Given the description of an element on the screen output the (x, y) to click on. 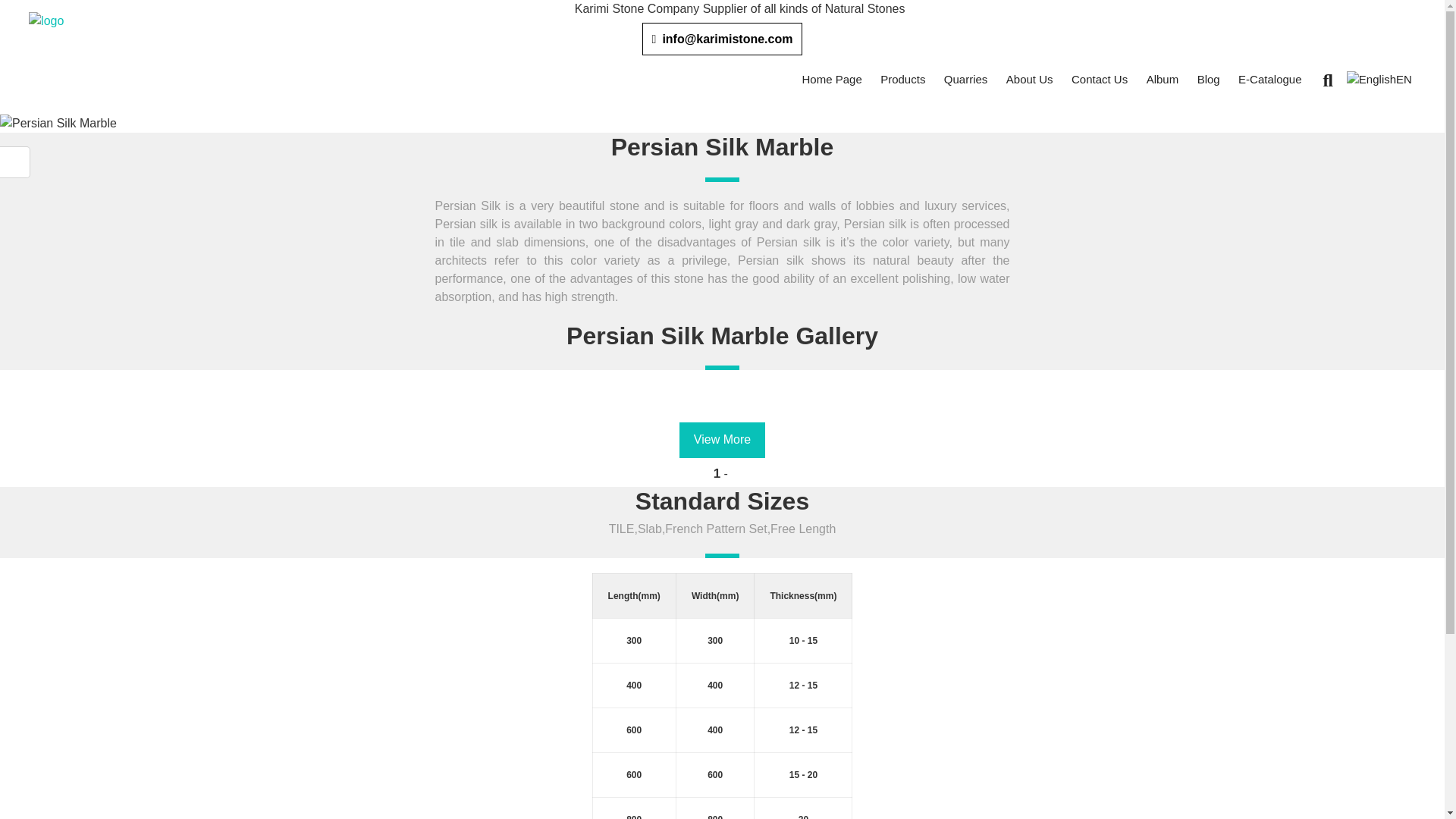
EN (1378, 79)
